Given the description of an element on the screen output the (x, y) to click on. 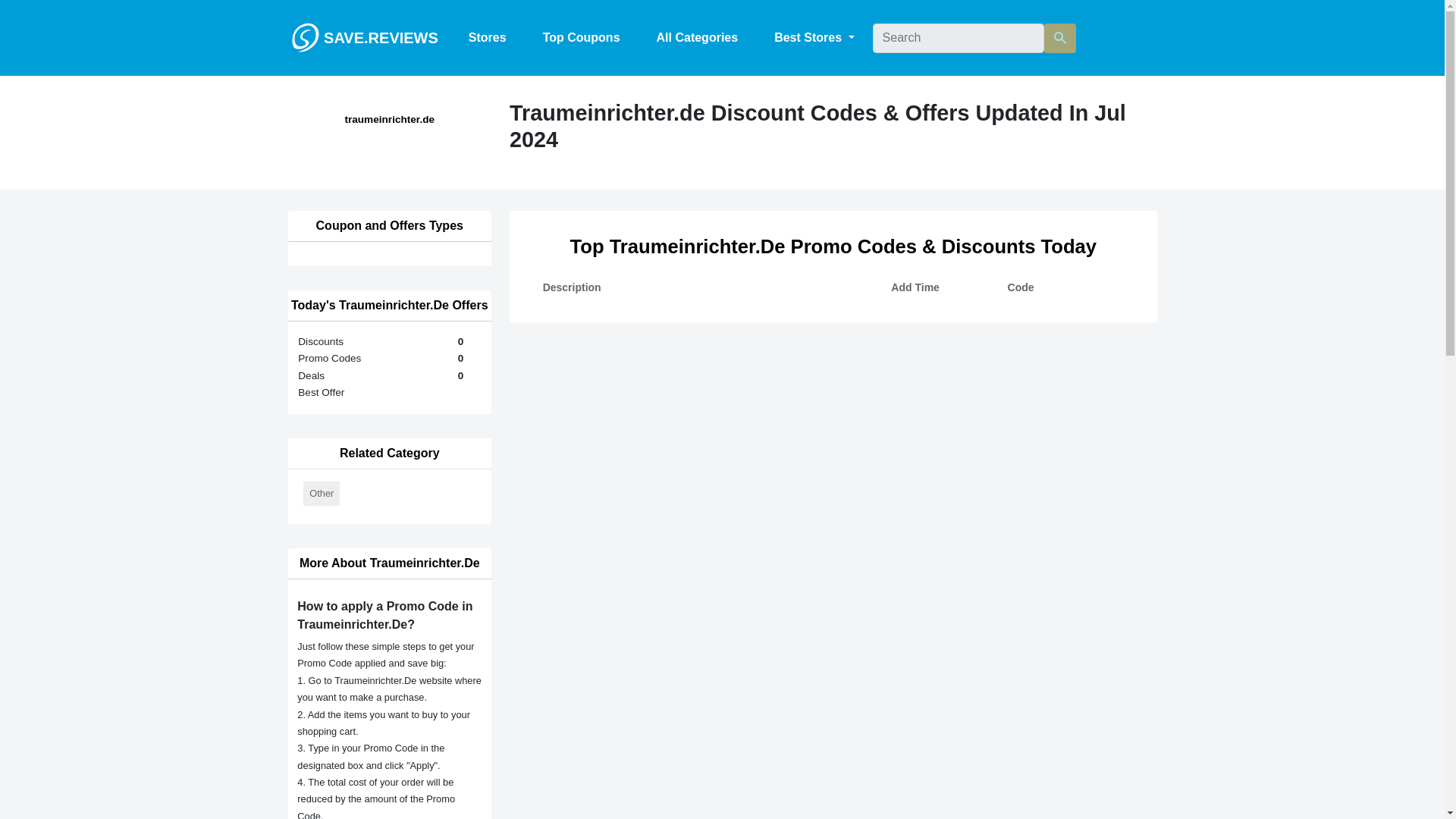
All Categories (697, 38)
Other (320, 493)
Best Stores (814, 38)
traumeinrichter.de (390, 119)
Top Coupons (581, 38)
SAVE.REVIEWS (364, 37)
